Given the description of an element on the screen output the (x, y) to click on. 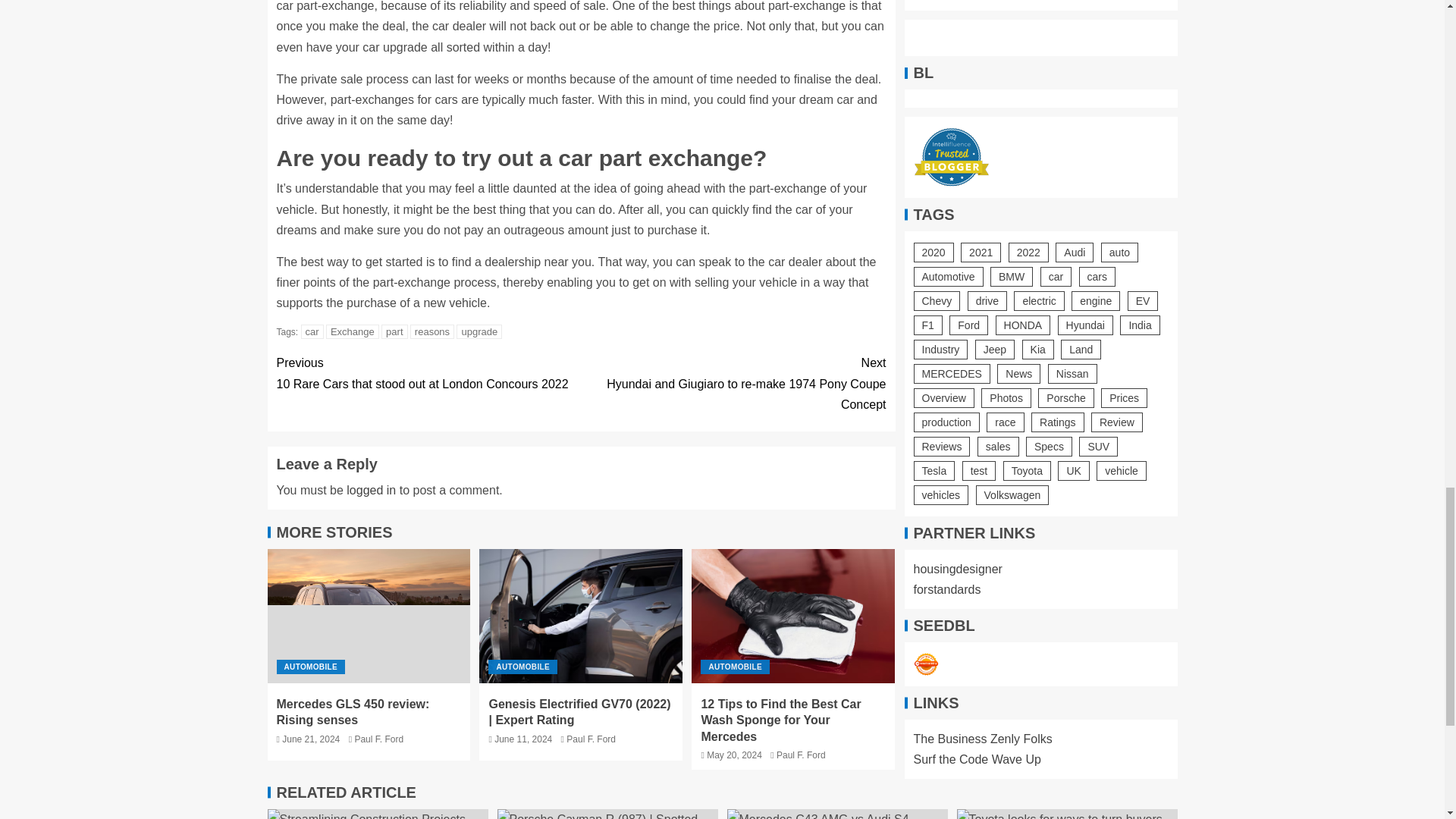
car (312, 331)
reasons (432, 331)
Exchange (352, 331)
part (394, 331)
upgrade (428, 372)
Mercedes GLS 450 review: Rising senses (479, 331)
12 Tips to Find the Best Car Wash Sponge for Your Mercedes (368, 615)
